Given the description of an element on the screen output the (x, y) to click on. 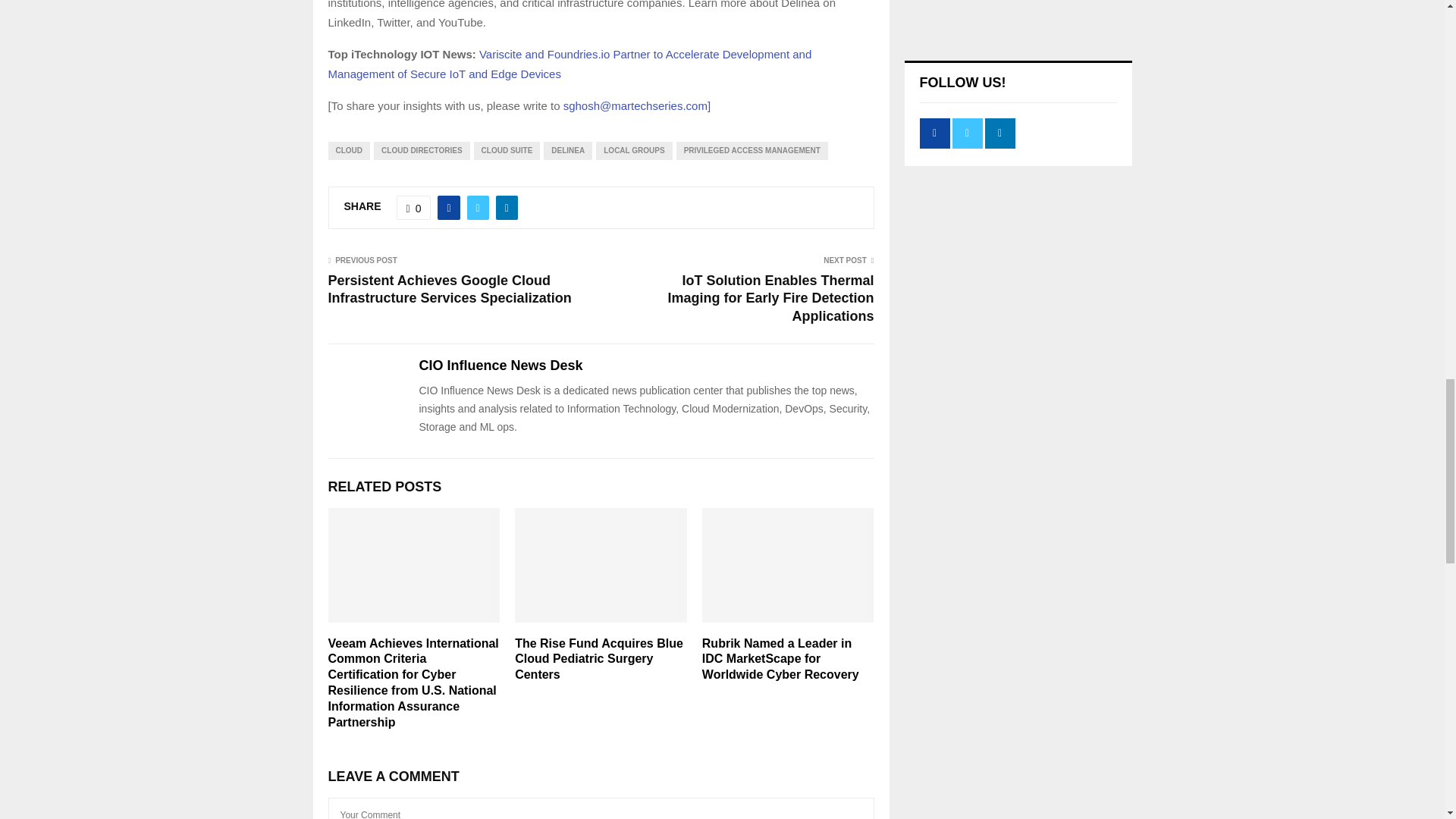
Like (413, 207)
Posts by CIO Influence News Desk (500, 365)
